Given the description of an element on the screen output the (x, y) to click on. 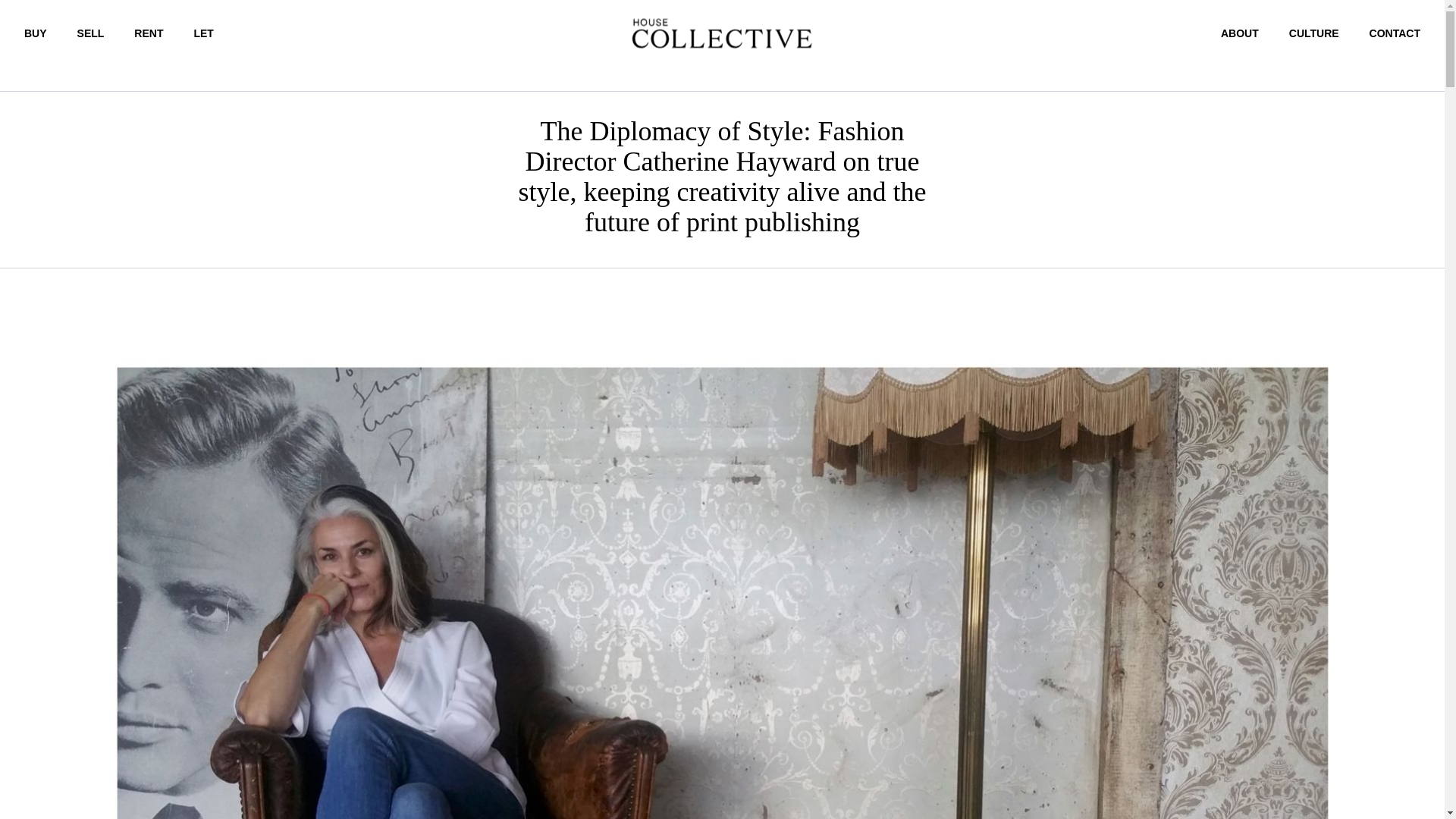
ABOUT (1240, 32)
LET (202, 33)
SELL (90, 33)
CULTURE (1313, 32)
BUY (35, 33)
RENT (148, 33)
CONTACT (1395, 32)
